Given the description of an element on the screen output the (x, y) to click on. 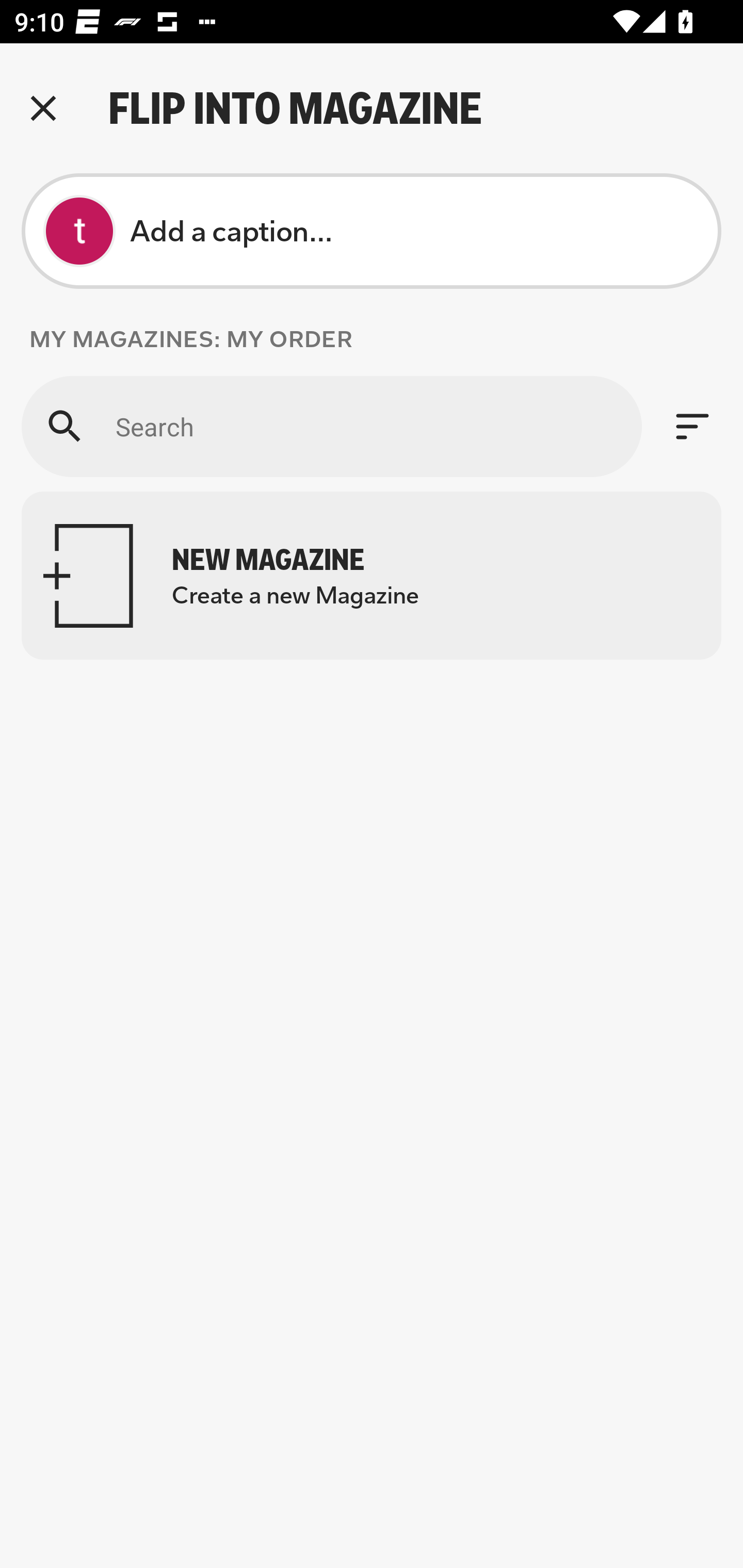
test appium Add a caption… (371, 231)
Search (331, 426)
NEW MAGAZINE Create a new Magazine (371, 575)
